Given the description of an element on the screen output the (x, y) to click on. 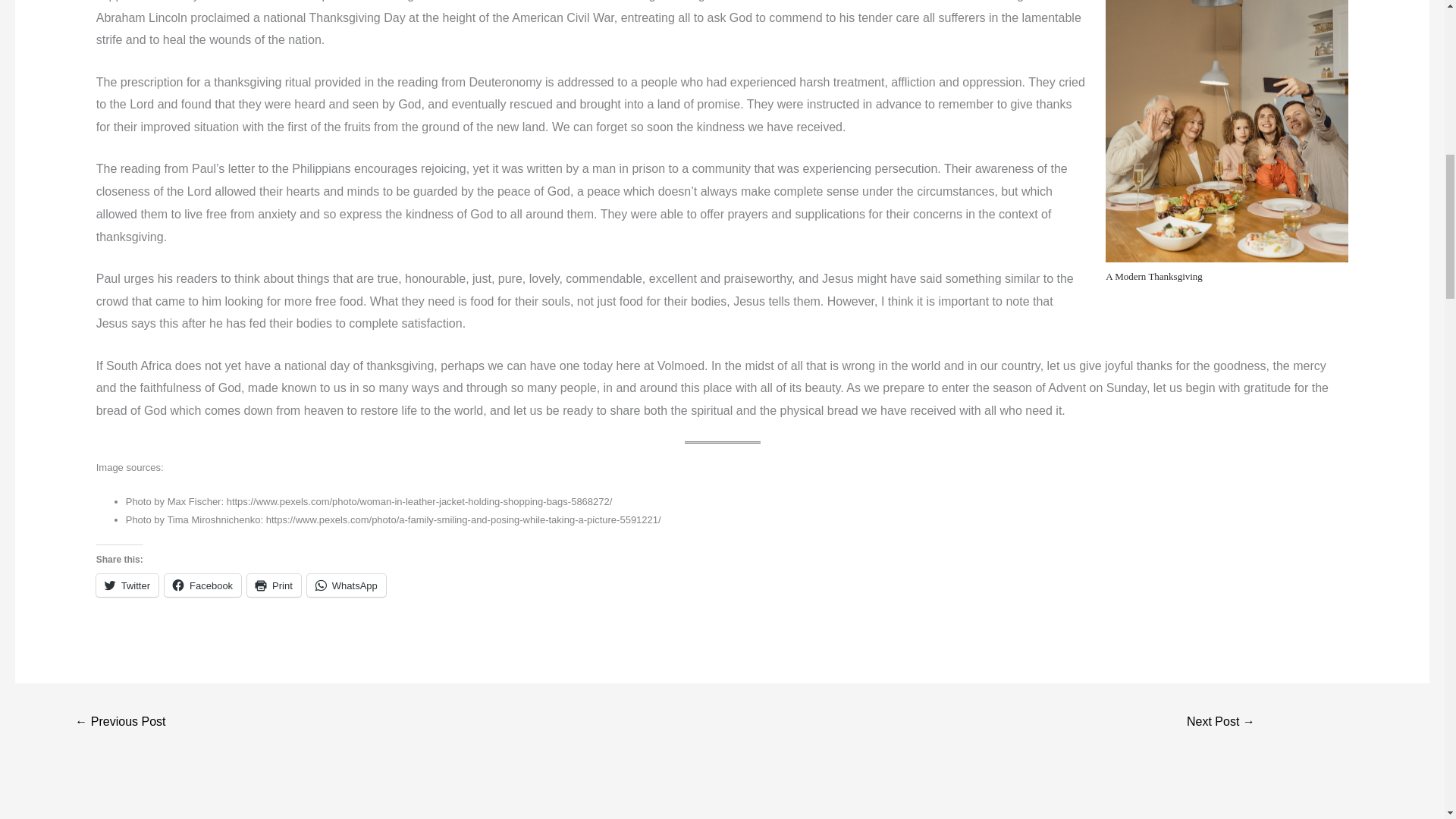
Twitter (127, 585)
Click to print (274, 585)
Facebook (202, 585)
Click to share on WhatsApp (346, 585)
First Sunday of Advent (1220, 723)
Click to share on Facebook (202, 585)
Print (274, 585)
WhatsApp (346, 585)
Click to share on Twitter (127, 585)
